Given the description of an element on the screen output the (x, y) to click on. 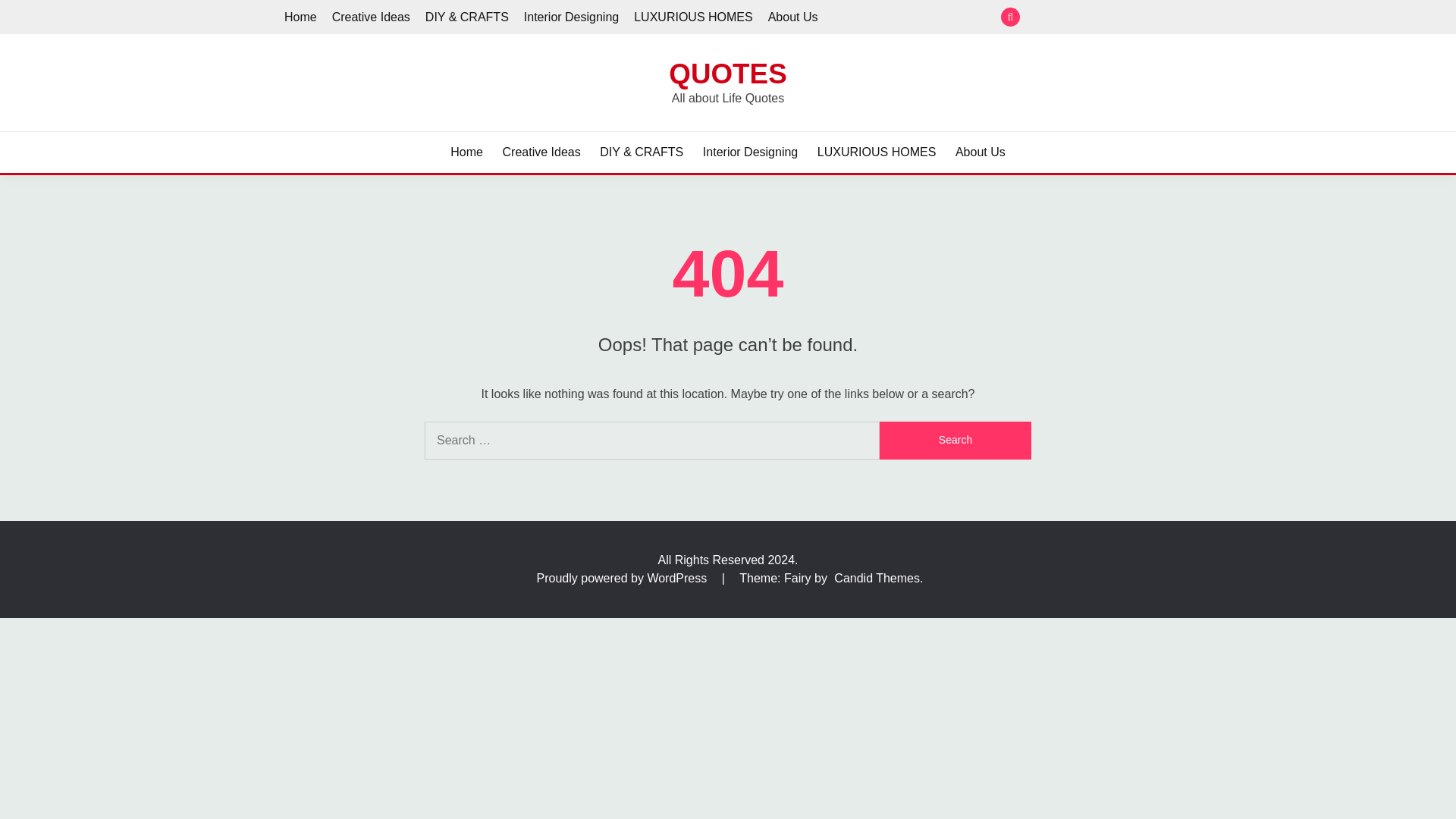
About Us (980, 152)
LUXURIOUS HOMES (1136, 16)
LUXURIOUS HOMES (692, 16)
Interior Designing (1111, 16)
Search (954, 440)
Home (300, 16)
Search (954, 440)
Search (954, 440)
QUOTES (727, 73)
Creative Ideas (541, 152)
